Given the description of an element on the screen output the (x, y) to click on. 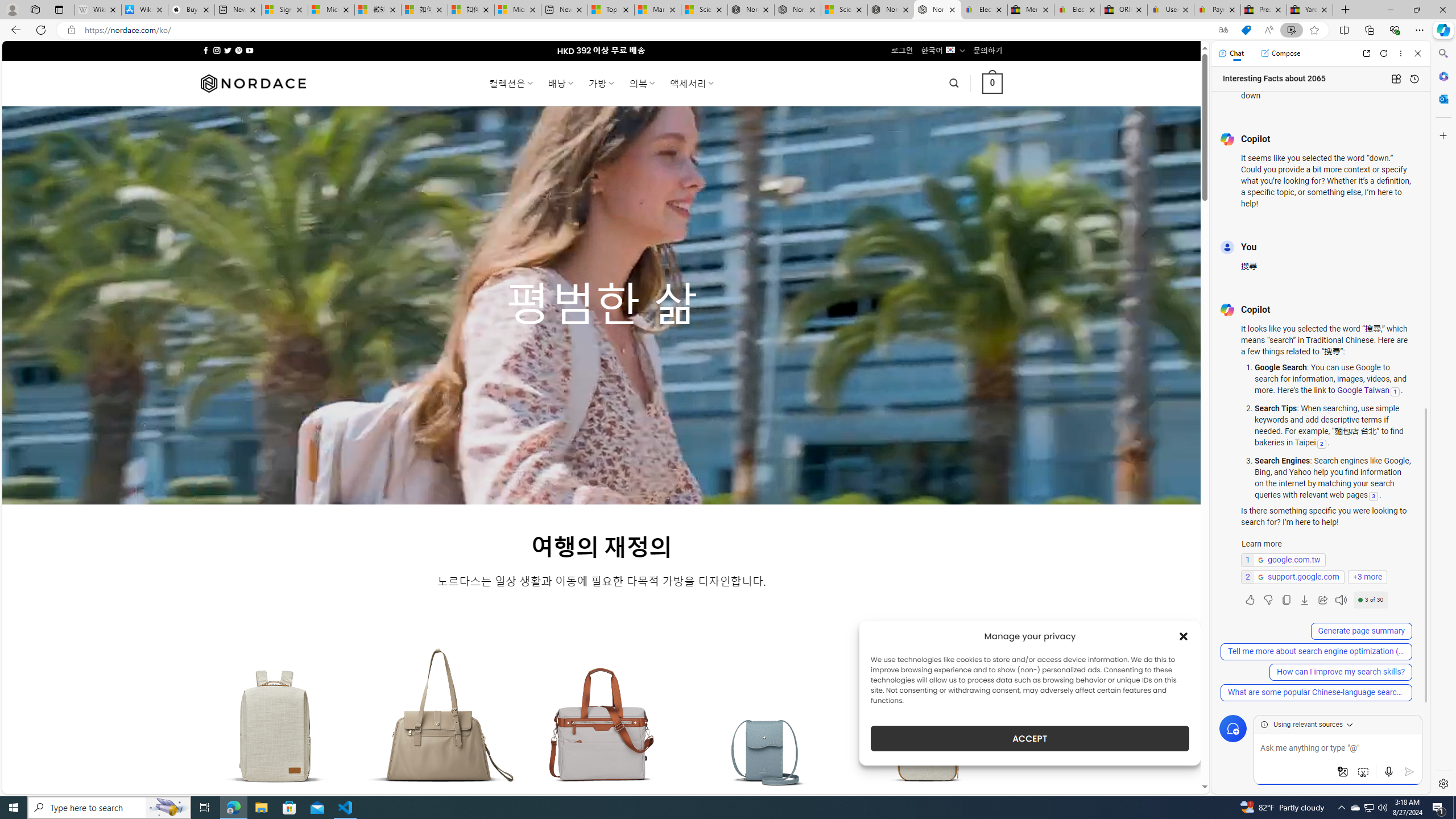
Buy iPad - Apple (191, 9)
  0   (992, 83)
This site has coupons! Shopping in Microsoft Edge (1245, 29)
Follow on Pinterest (237, 50)
ACCEPT (1029, 738)
Sign in to your Microsoft account (284, 9)
Top Stories - MSN (610, 9)
